Given the description of an element on the screen output the (x, y) to click on. 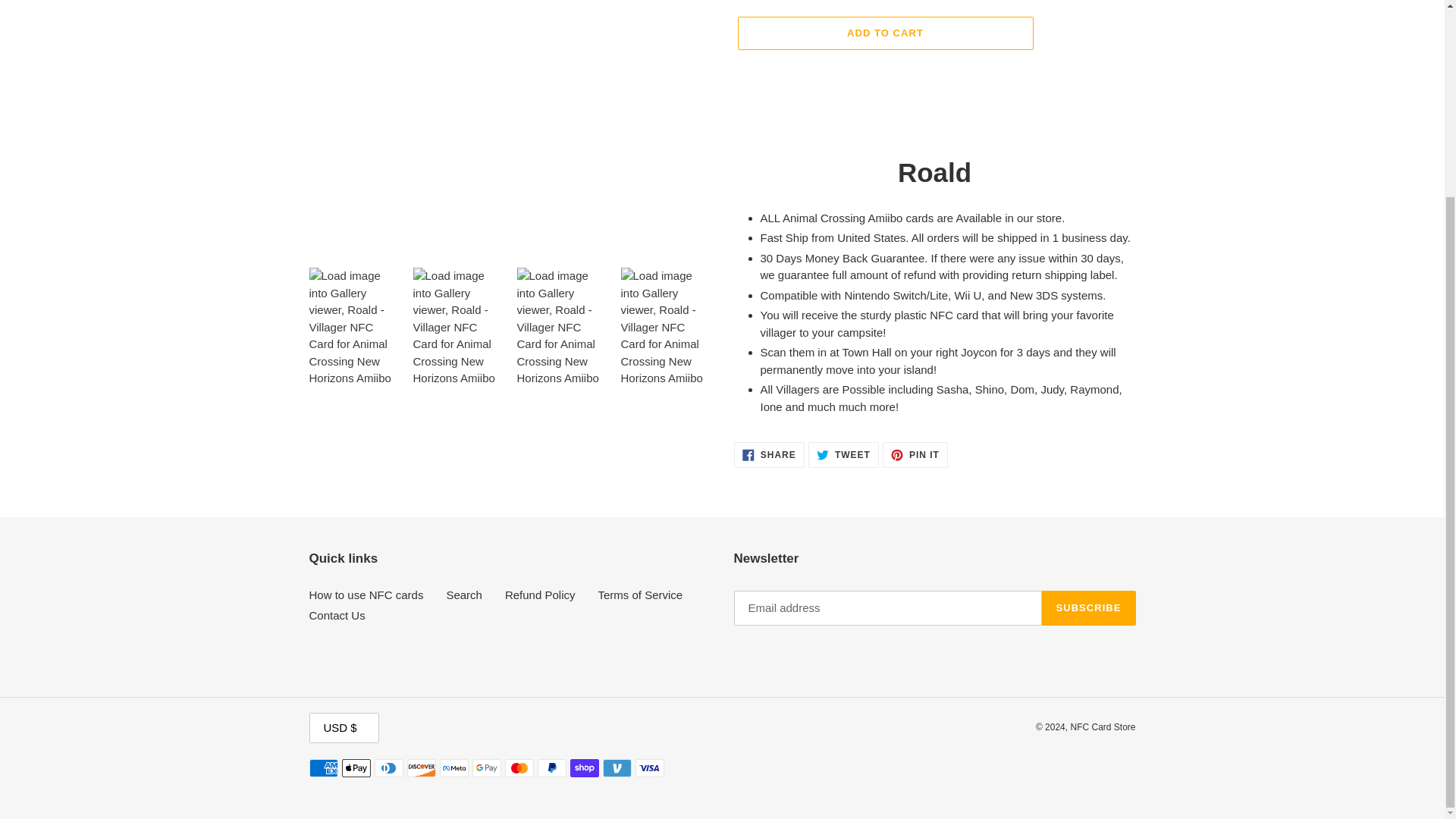
Refund Policy (914, 454)
Search (843, 454)
Terms of Service (540, 594)
ADD TO CART (463, 594)
Contact Us (639, 594)
SUBSCRIBE (884, 32)
How to use NFC cards (769, 454)
